Given the description of an element on the screen output the (x, y) to click on. 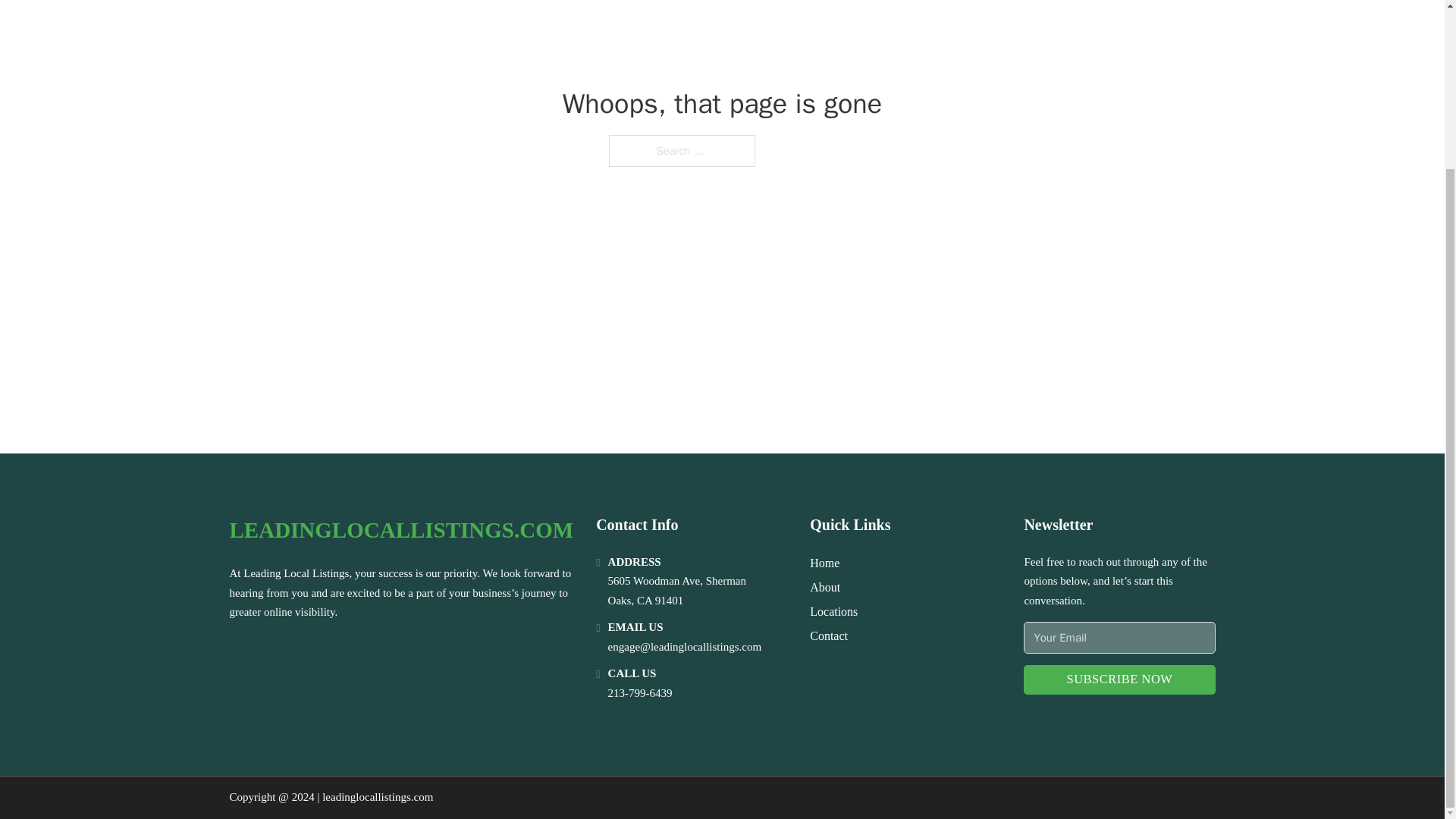
Locations (833, 611)
SUBSCRIBE NOW (1118, 679)
213-799-6439 (640, 693)
Home (824, 562)
LEADINGLOCALLISTINGS.COM (400, 529)
About (824, 587)
Contact (828, 635)
